Given the description of an element on the screen output the (x, y) to click on. 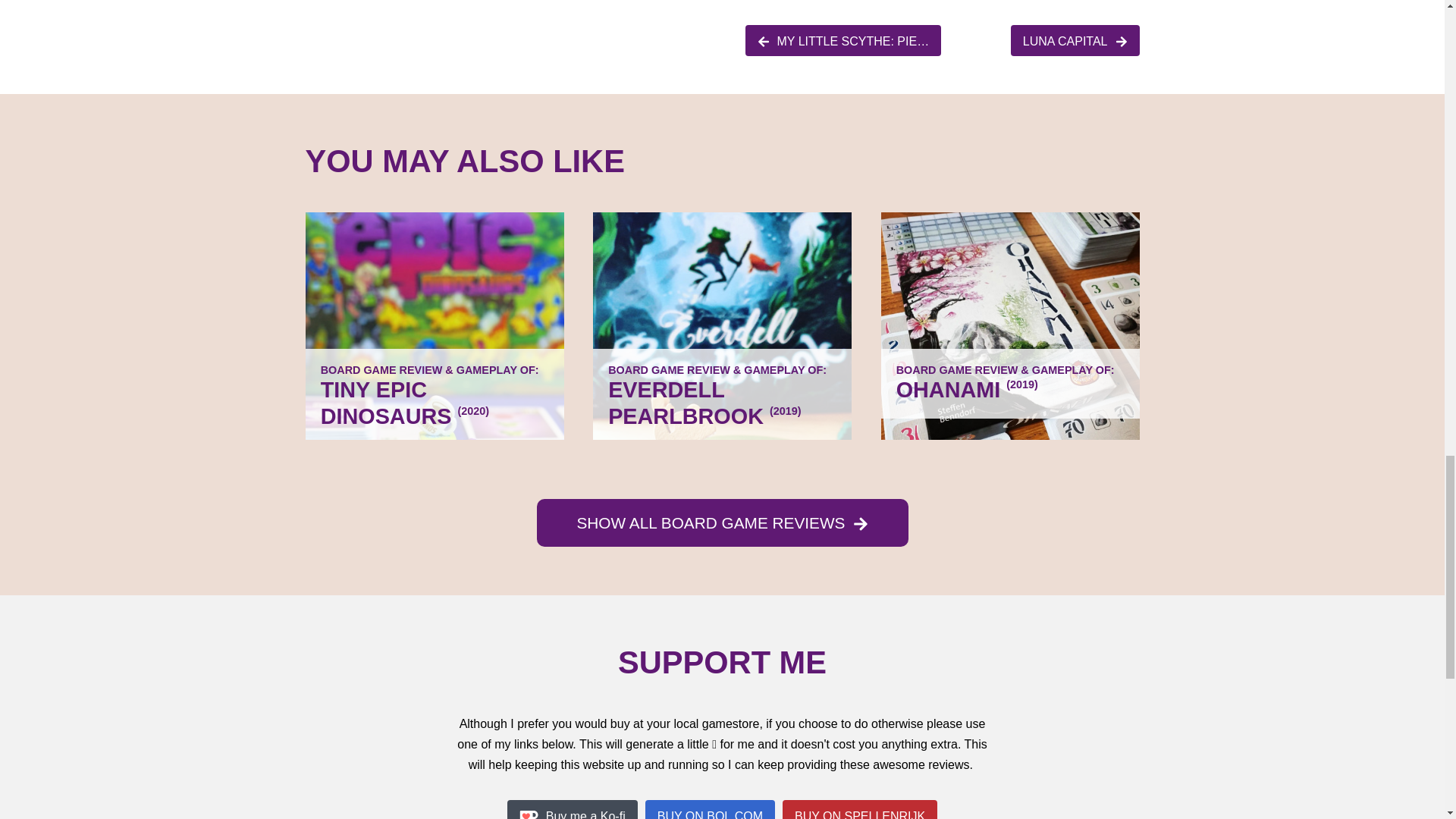
SHOW ALL BOARD GAME REVIEWS (722, 522)
BUY ON SPELLENRIJK (860, 809)
Buy me a Ko-fi (571, 809)
BUY ON BOL.COM (709, 809)
Read review about Ohanami (1010, 325)
LUNA CAPITAL (1075, 40)
Read review about Tiny Epic Dinosaurs (433, 325)
Read review about Everdell Pearlbrook (721, 325)
